Given the description of an element on the screen output the (x, y) to click on. 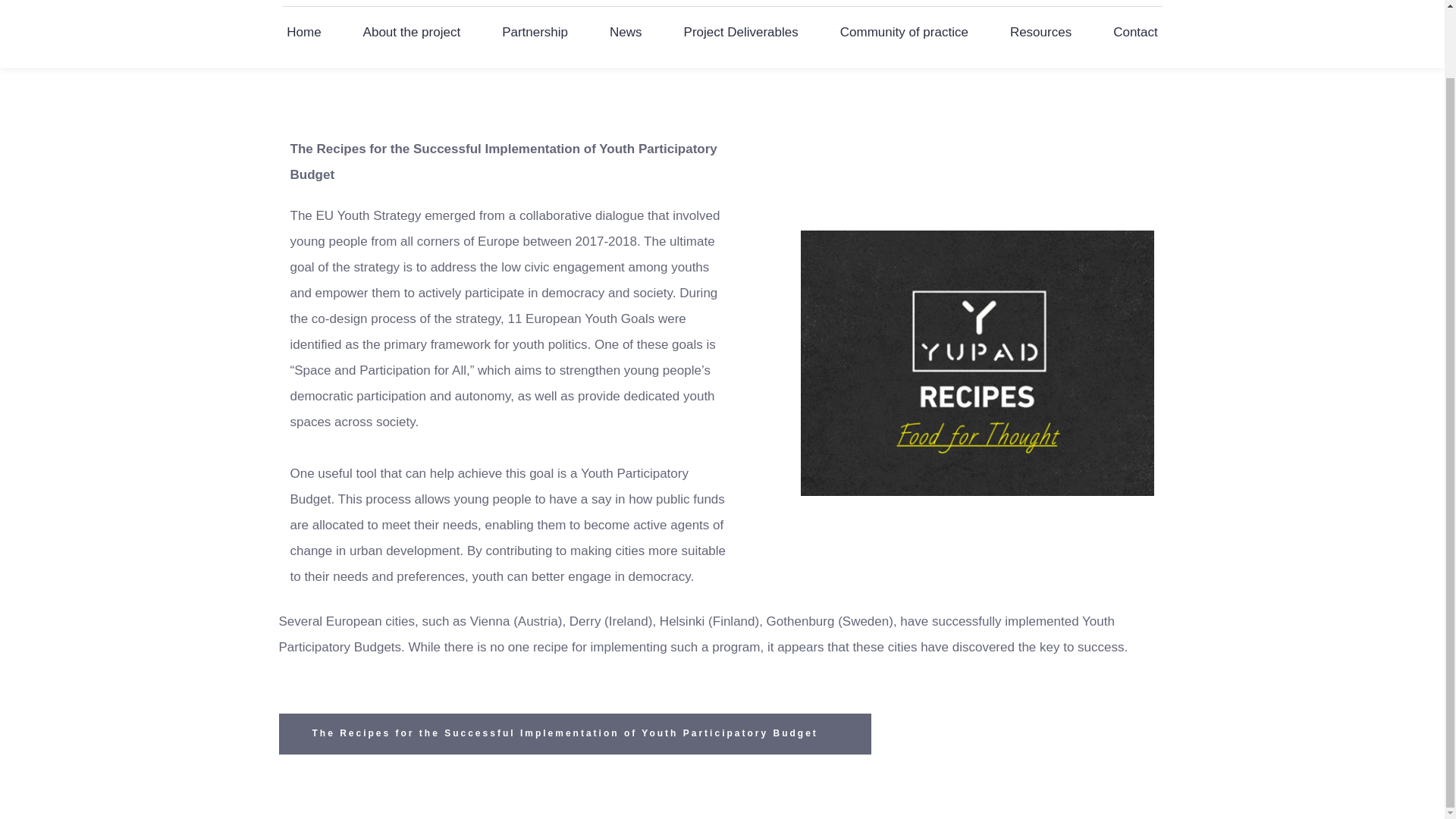
Community of practice (903, 32)
Partnership (534, 32)
Contact (1135, 32)
About the project (411, 32)
Home (303, 32)
News (625, 32)
Resources (1040, 32)
Project Deliverables (740, 32)
